Given the description of an element on the screen output the (x, y) to click on. 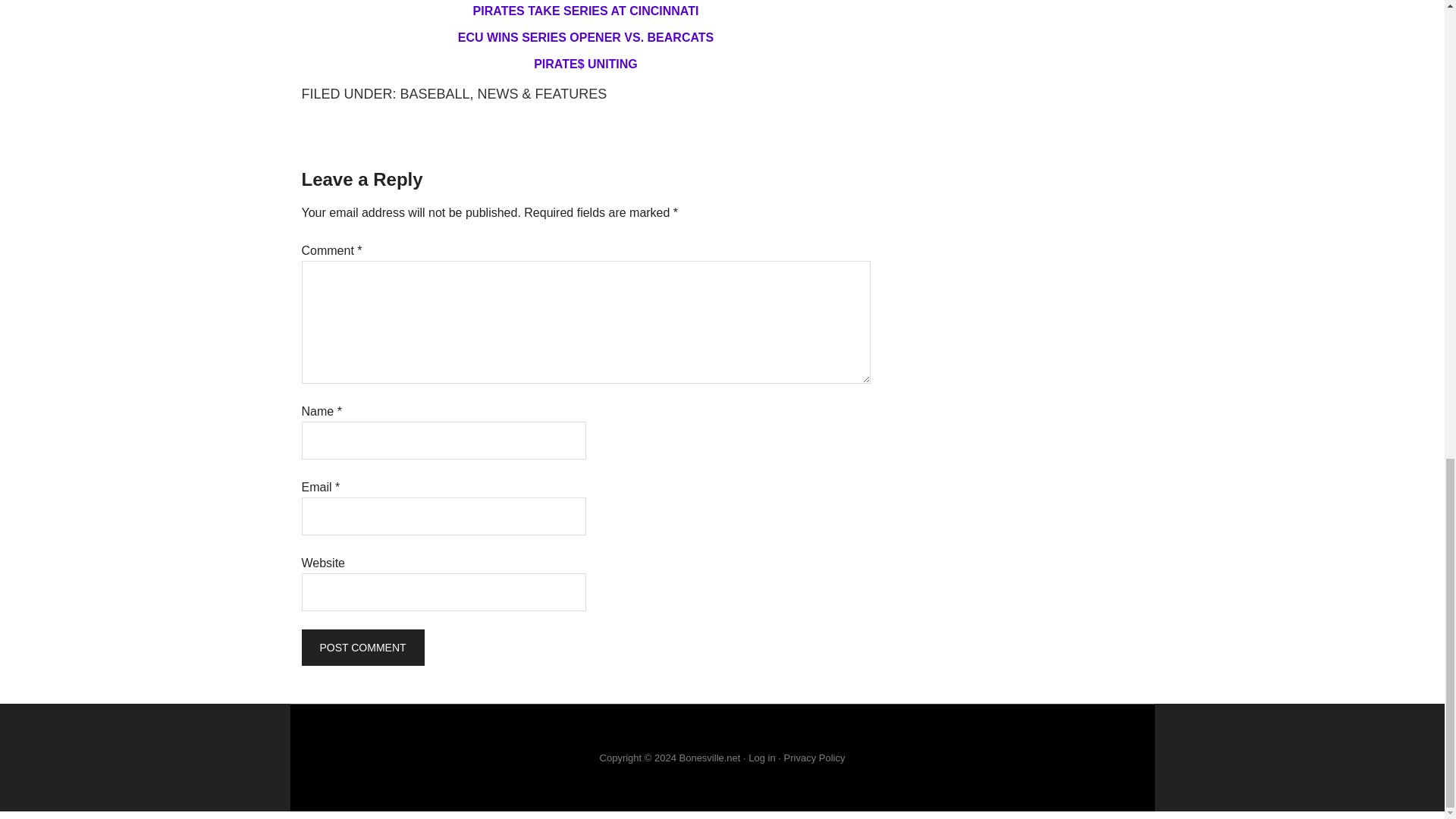
Privacy Policy (814, 757)
Log in (761, 757)
Post Comment (363, 647)
ECU WINS SERIES OPENER VS. BEARCATS (586, 37)
BASEBALL (435, 93)
Post Comment (363, 647)
PIRATES TAKE SERIES AT CINCINNATI (585, 10)
